Given the description of an element on the screen output the (x, y) to click on. 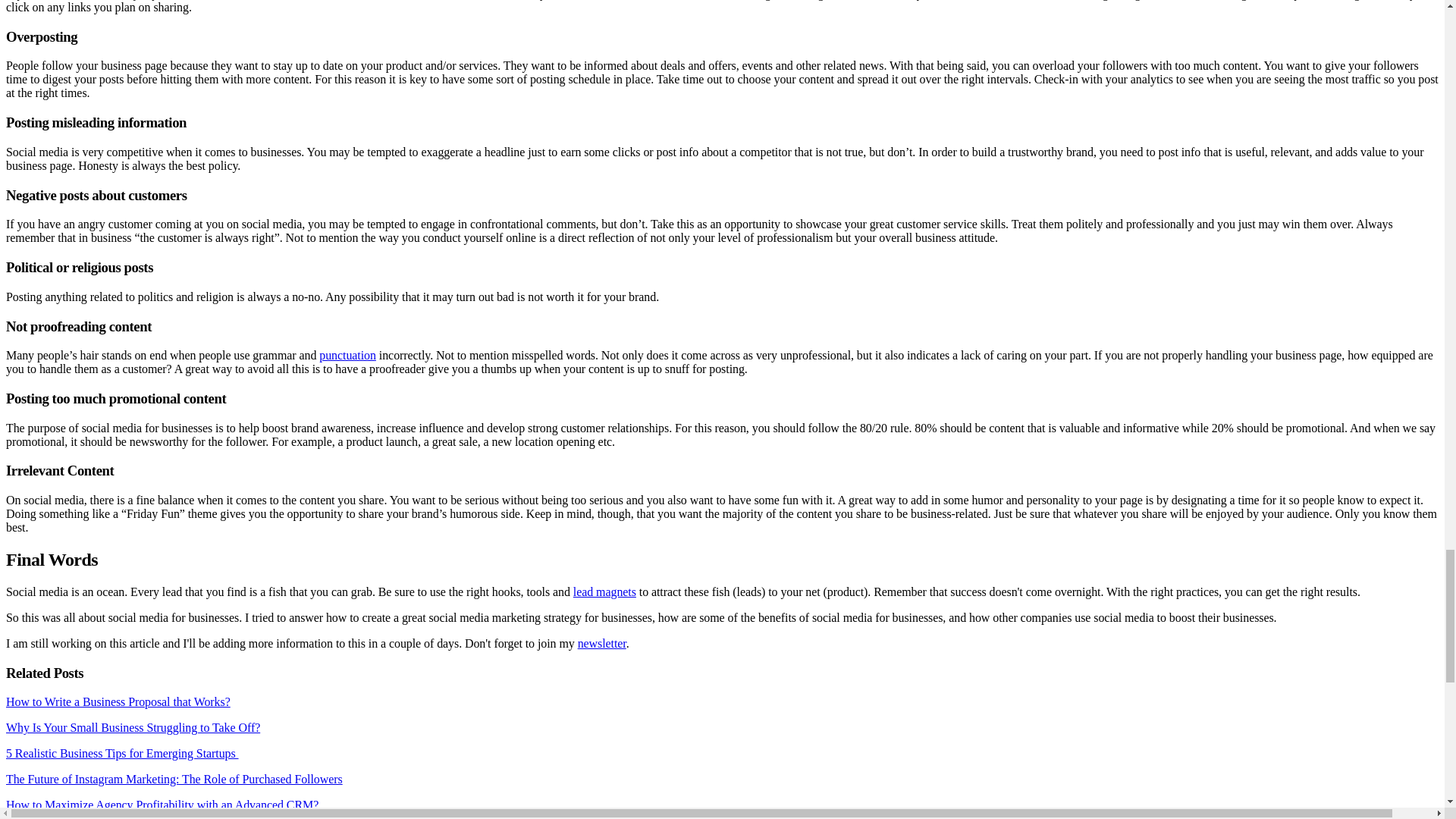
punctuation (346, 354)
punctuation (346, 354)
Why Is Your Small Business Struggling to Take Off? (132, 727)
5 Realistic Business Tips for Emerging Startups  (121, 753)
newsletter (602, 643)
lead magnets (604, 591)
How to Write a Business Proposal that Works? (117, 701)
